Given the description of an element on the screen output the (x, y) to click on. 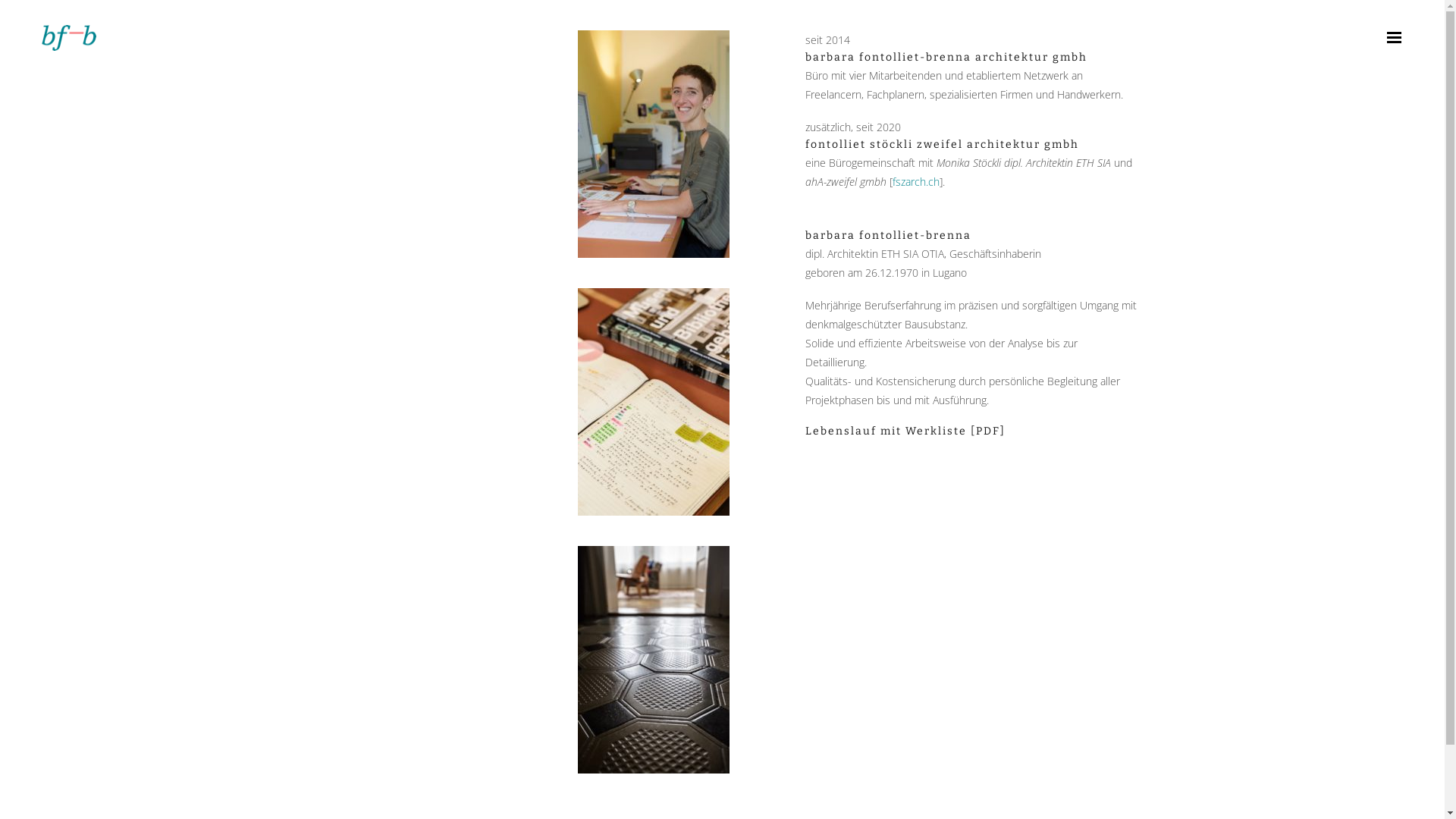
  Element type: text (1393, 37)
fszarch.ch Element type: text (915, 181)
Lebenslauf mit Werkliste [PDF] Element type: text (905, 430)
